Given the description of an element on the screen output the (x, y) to click on. 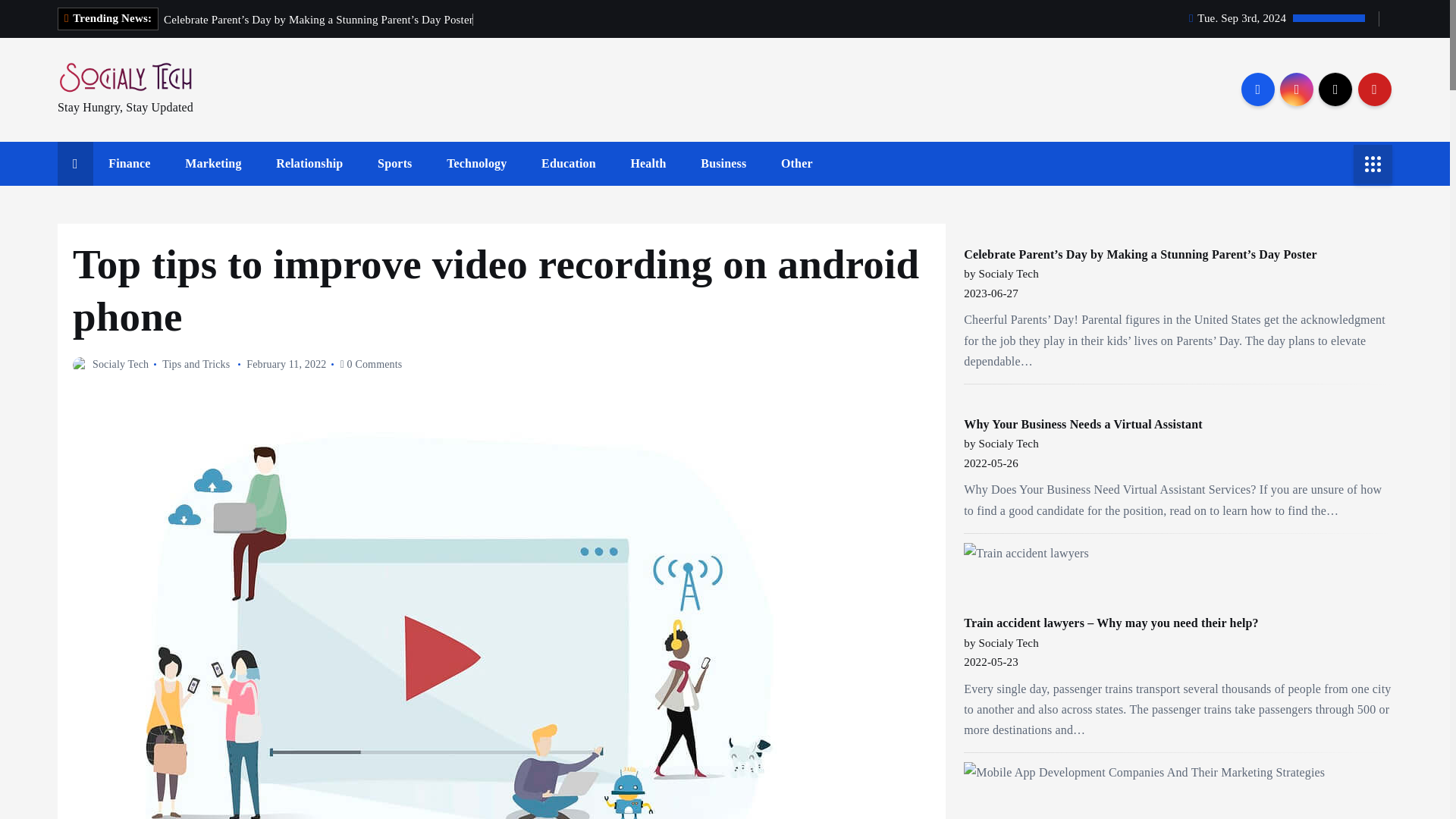
Business (723, 163)
Education (568, 163)
Relationship (309, 163)
Technology (475, 163)
Relationship (309, 163)
Health (647, 163)
Sports (394, 163)
Finance (129, 163)
Health (647, 163)
Business (723, 163)
